Given the description of an element on the screen output the (x, y) to click on. 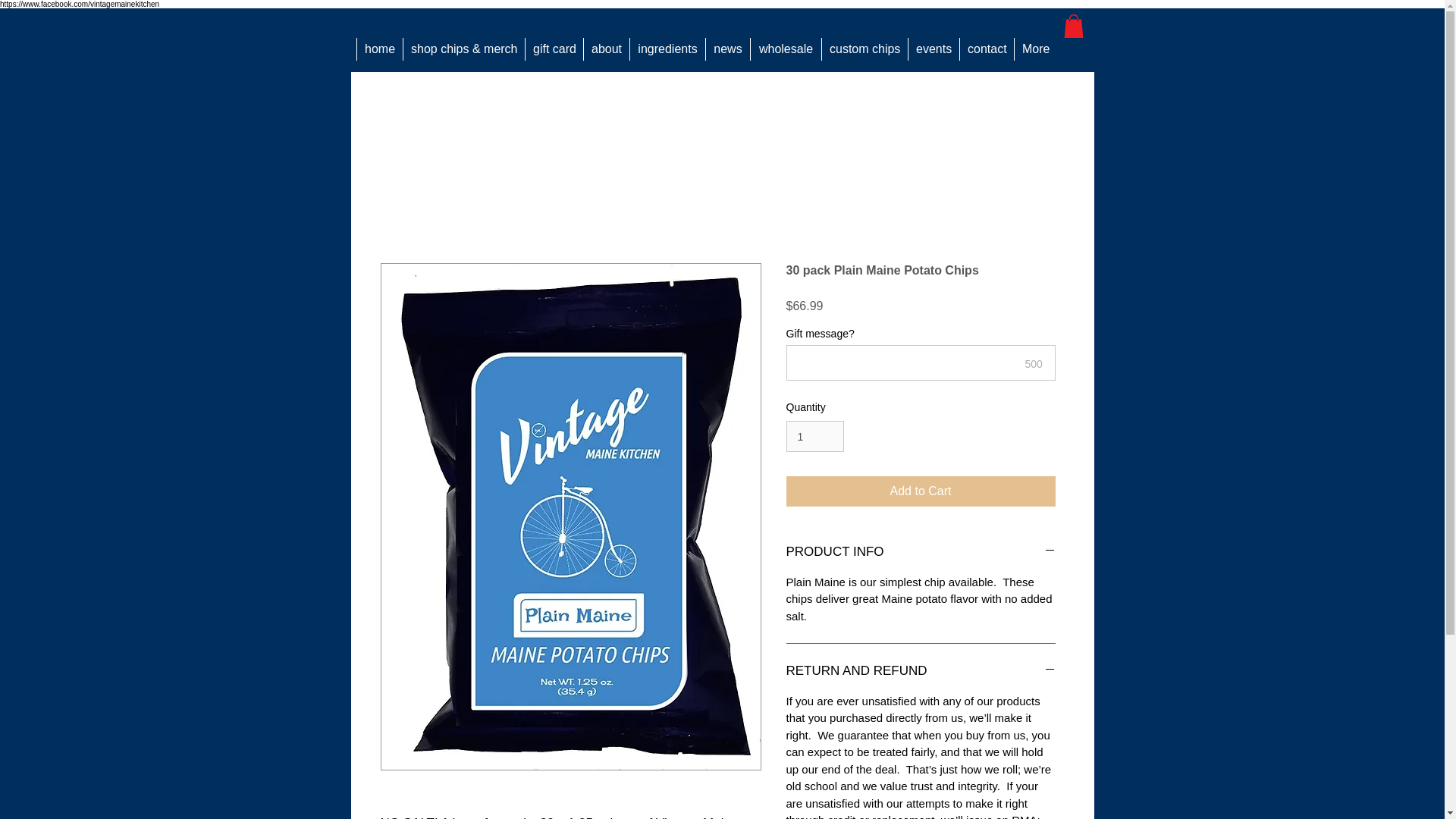
ingredients (666, 48)
gift card (553, 48)
contact (986, 48)
home (379, 48)
custom chips (864, 48)
1 (814, 436)
about (605, 48)
Add to Cart (920, 490)
wholesale (785, 48)
news (726, 48)
RETURN AND REFUND (920, 670)
PRODUCT INFO (920, 551)
events (933, 48)
